Given the description of an element on the screen output the (x, y) to click on. 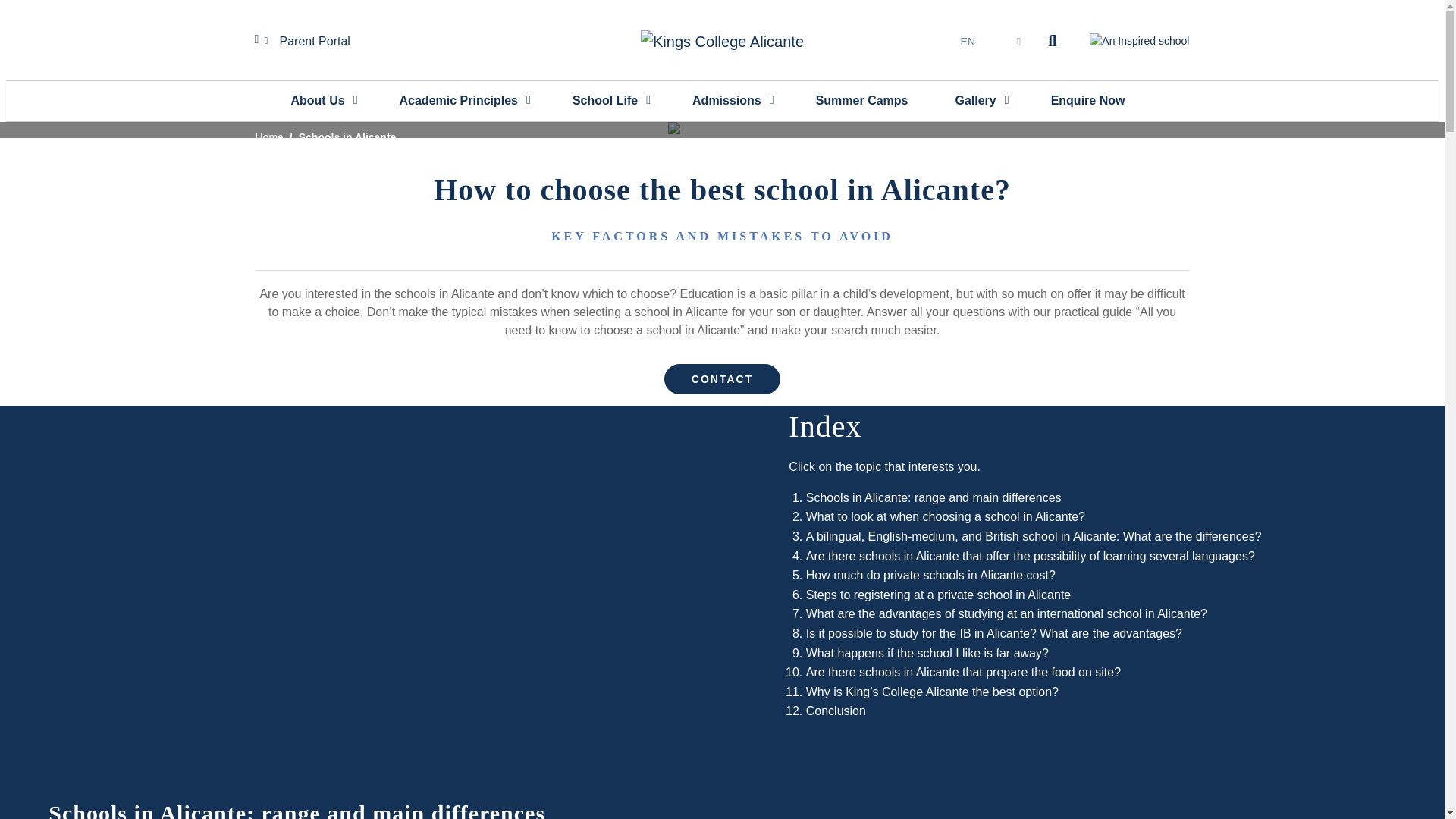
About Us (321, 101)
Colegios en Alicante (722, 130)
Academic Principles (462, 101)
EN (967, 41)
Kings College Alicante (721, 41)
Parent Portal (309, 41)
Search Icon (1054, 41)
Skip to main content (721, 3)
